Given the description of an element on the screen output the (x, y) to click on. 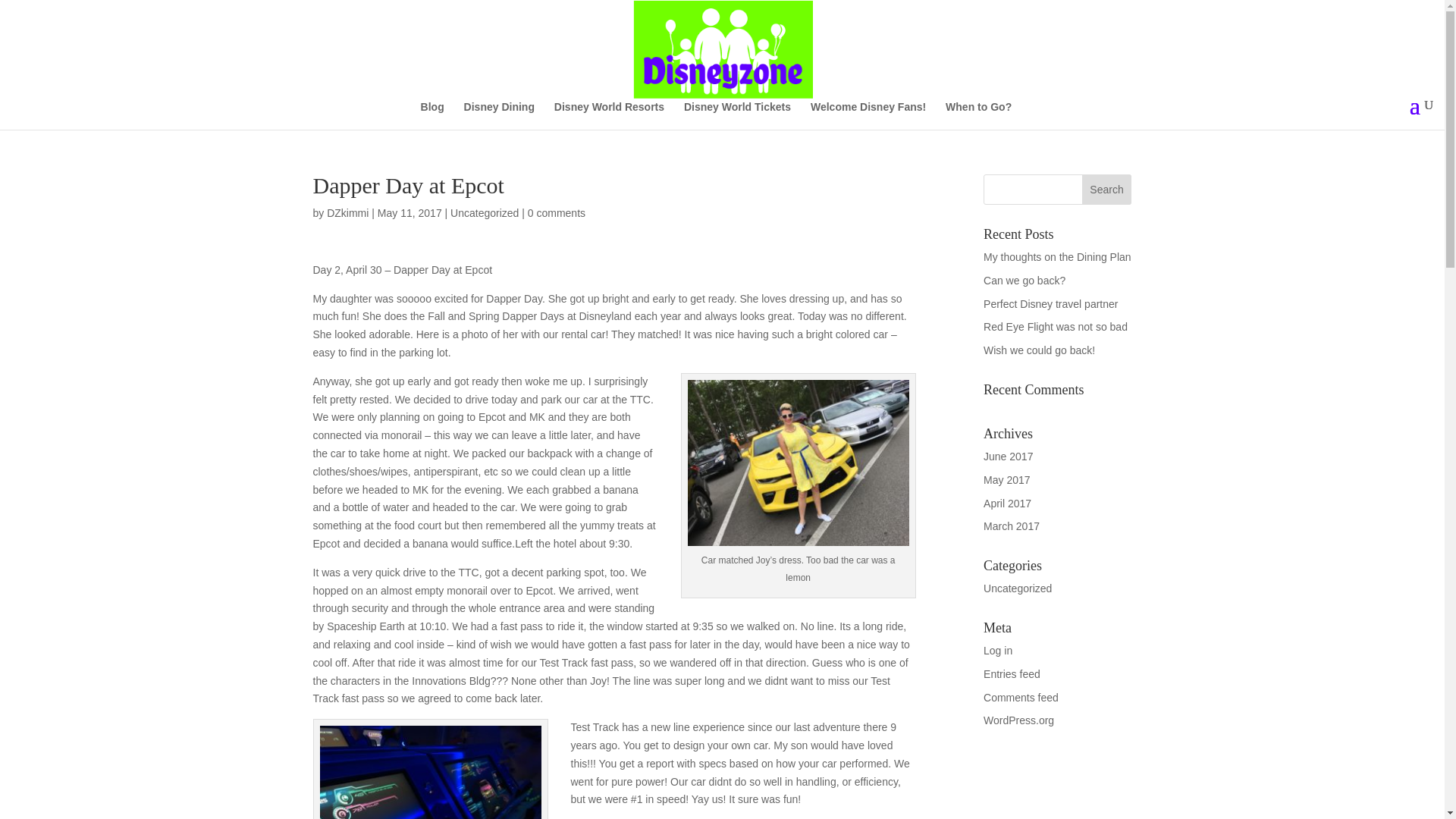
When to Go? (977, 115)
Uncategorized (483, 213)
Entries feed (1012, 674)
Wish we could go back! (1039, 349)
Disney World Resorts (608, 115)
DZkimmi (347, 213)
Welcome Disney Fans! (868, 115)
Disney Dining (499, 115)
Comments feed (1021, 697)
Can we go back? (1024, 280)
